Given the description of an element on the screen output the (x, y) to click on. 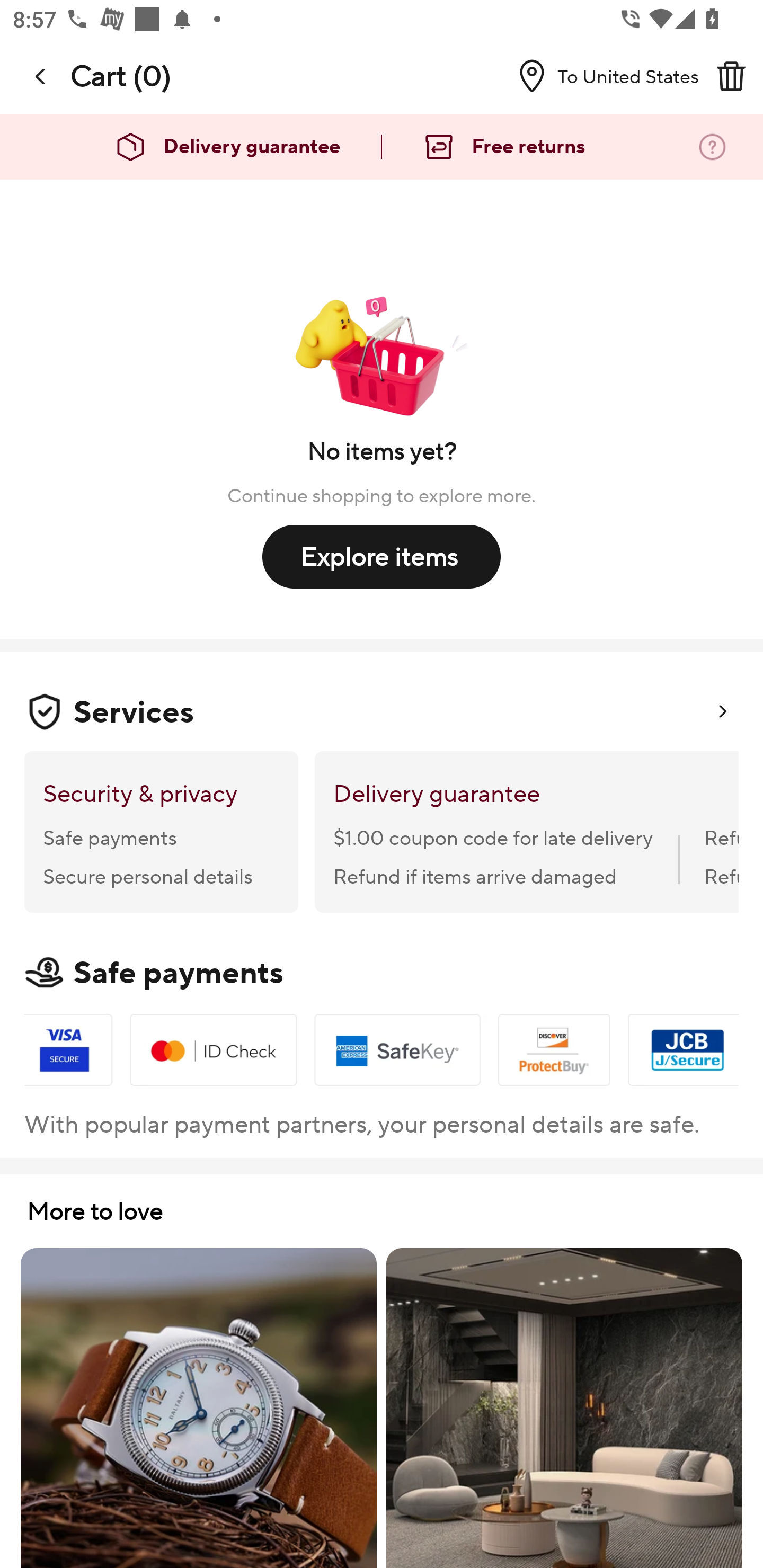
 (41, 76)
 To United States (601, 75)
 (730, 75)
Explore items  (381, 556)
